Given the description of an element on the screen output the (x, y) to click on. 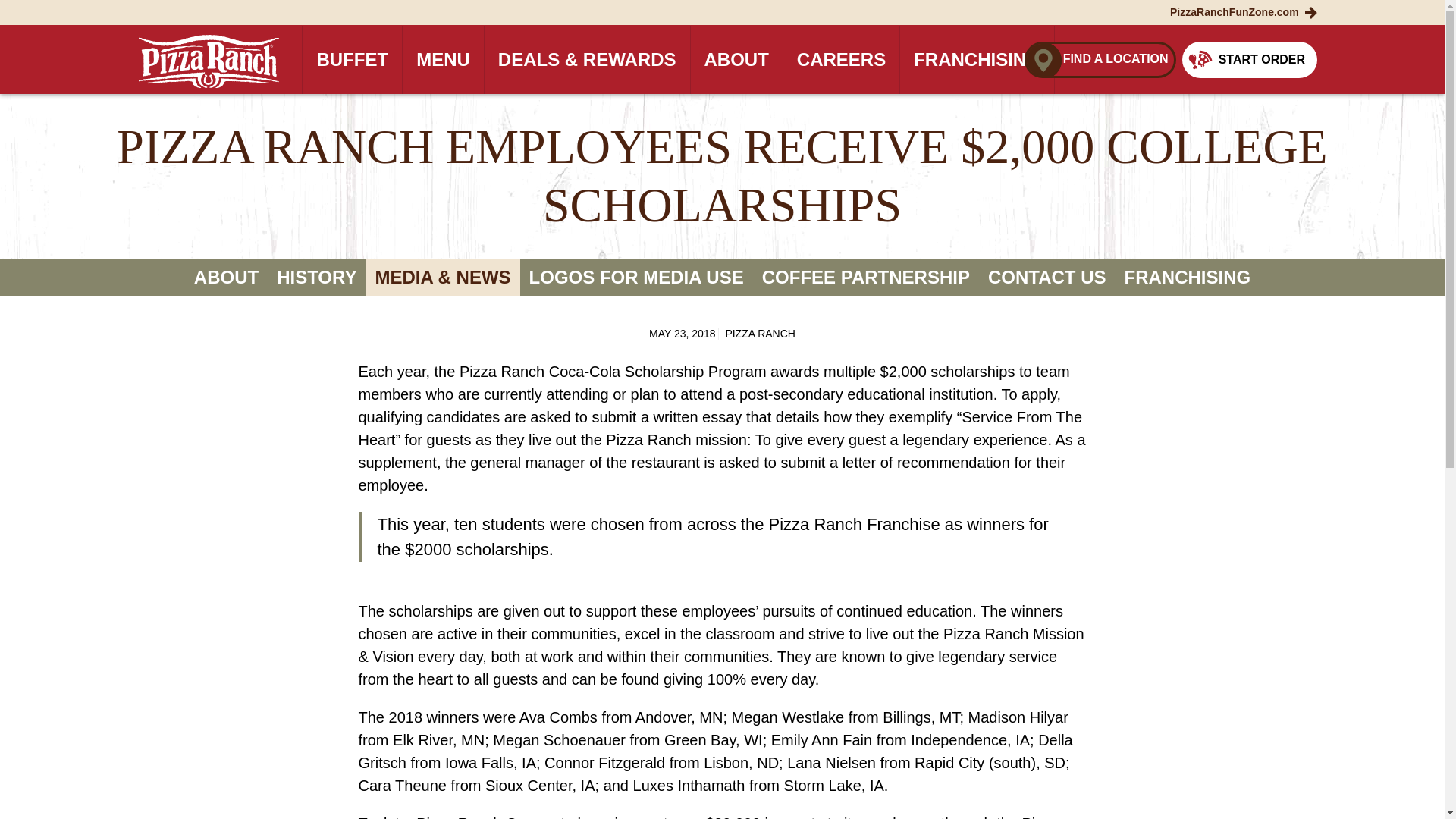
MENU (443, 59)
PizzaRanchFunZone.com (1244, 11)
FIND A LOCATION (1100, 59)
CAREERS (841, 59)
ABOUT (735, 59)
START ORDER (1249, 59)
FRANCHISING (976, 59)
BUFFET (351, 59)
